Given the description of an element on the screen output the (x, y) to click on. 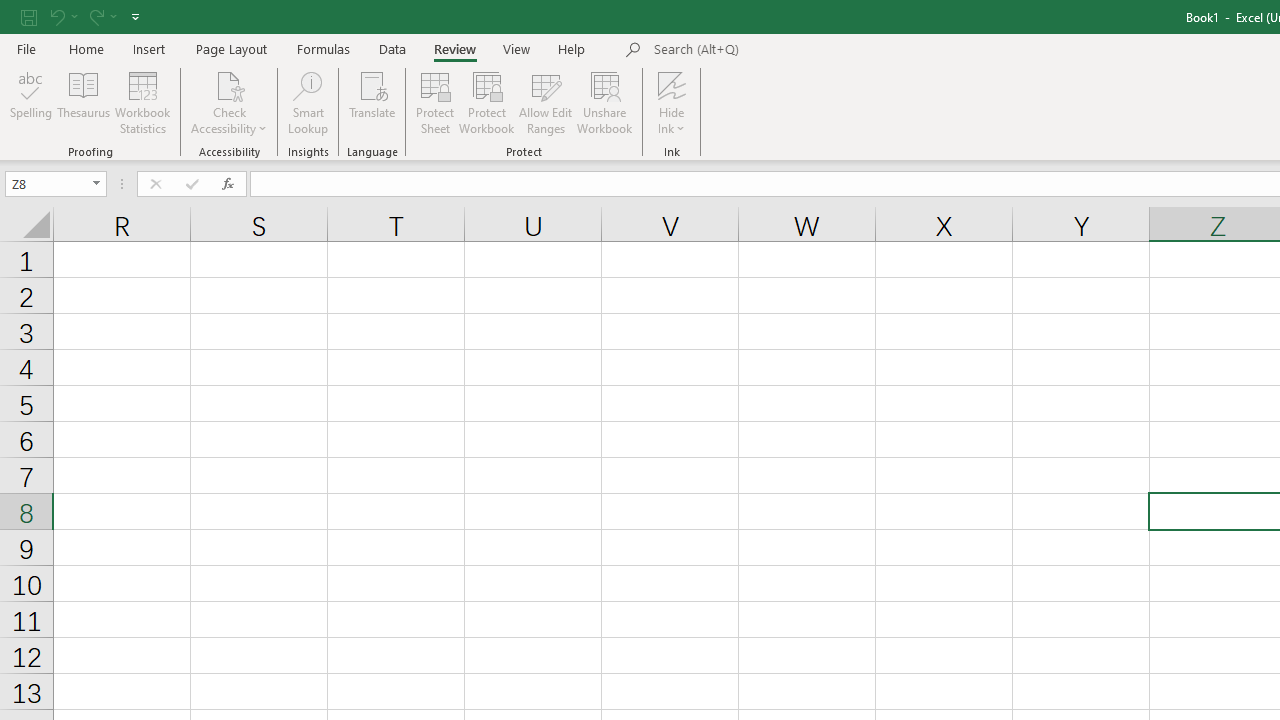
Allow Edit Ranges (545, 102)
Hide Ink (671, 102)
Workbook Statistics (142, 102)
Translate (372, 102)
Check Accessibility (229, 84)
Unshare Workbook (604, 102)
